Given the description of an element on the screen output the (x, y) to click on. 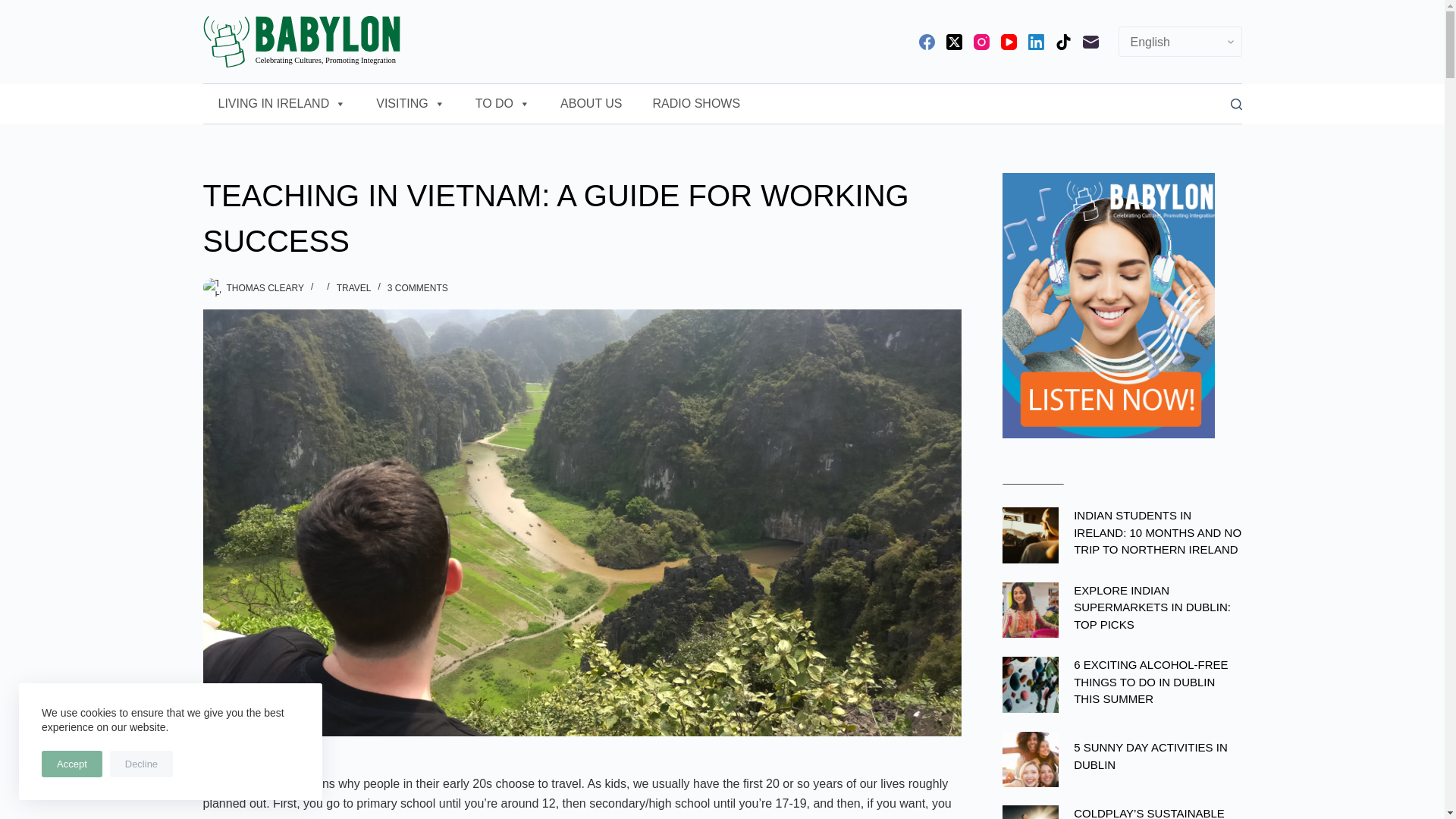
Babylon (302, 41)
Posts by Thomas Cleary (263, 287)
Teaching in Vietnam: A Guide for Working Success (581, 217)
Thomas Cleary (212, 287)
Skip to content (15, 7)
